Given the description of an element on the screen output the (x, y) to click on. 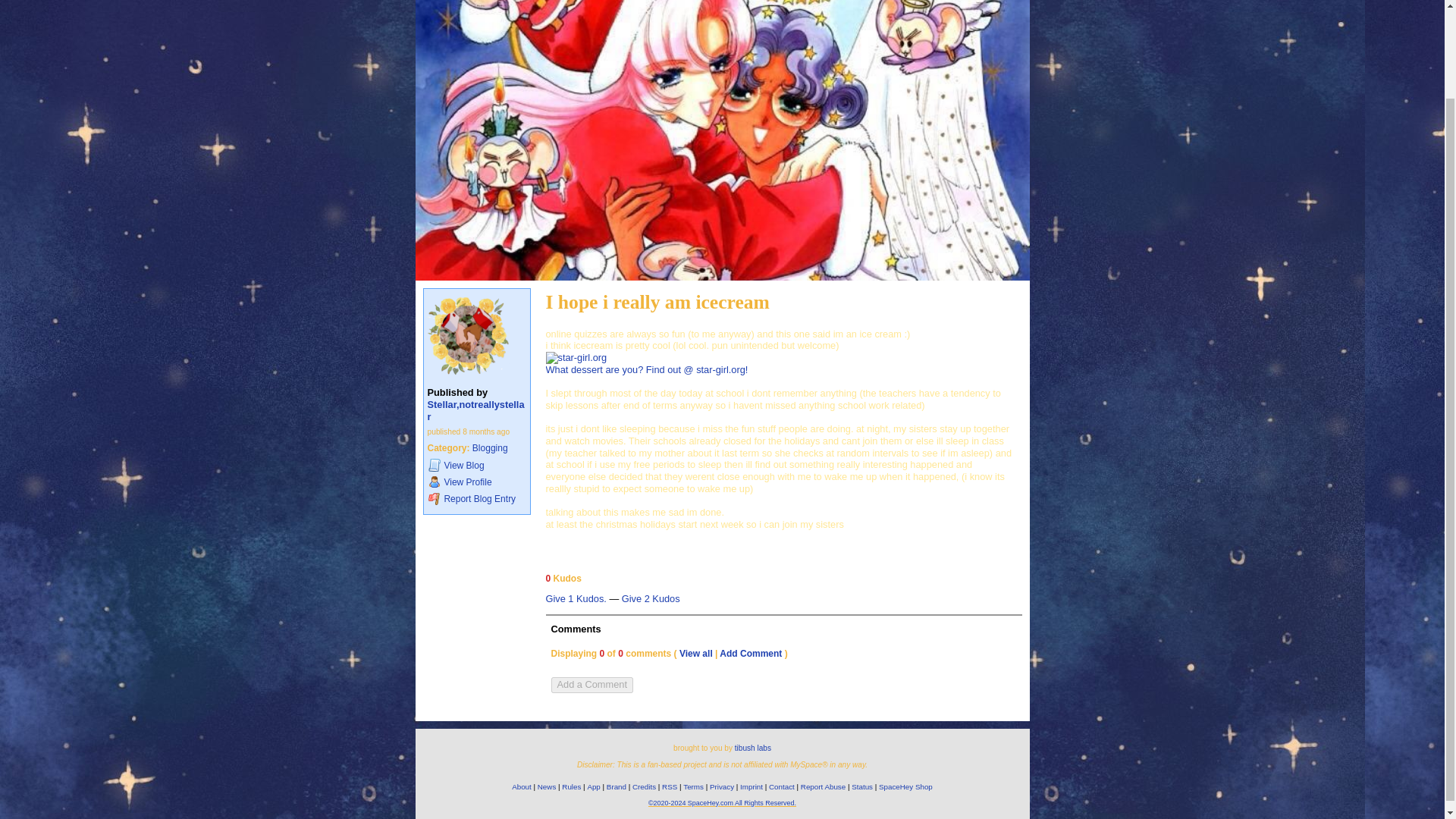
Give 1 Kudos. (576, 599)
Add Comment (750, 653)
View all (696, 653)
Blogging (489, 448)
Add a Comment (590, 684)
About (521, 786)
View Profile (476, 481)
Rules (571, 786)
View Blog (476, 464)
News (546, 786)
tibush labs (753, 747)
Brand (616, 786)
RSS (669, 786)
Add a Comment (590, 684)
Give 2 Kudos (650, 599)
